Given the description of an element on the screen output the (x, y) to click on. 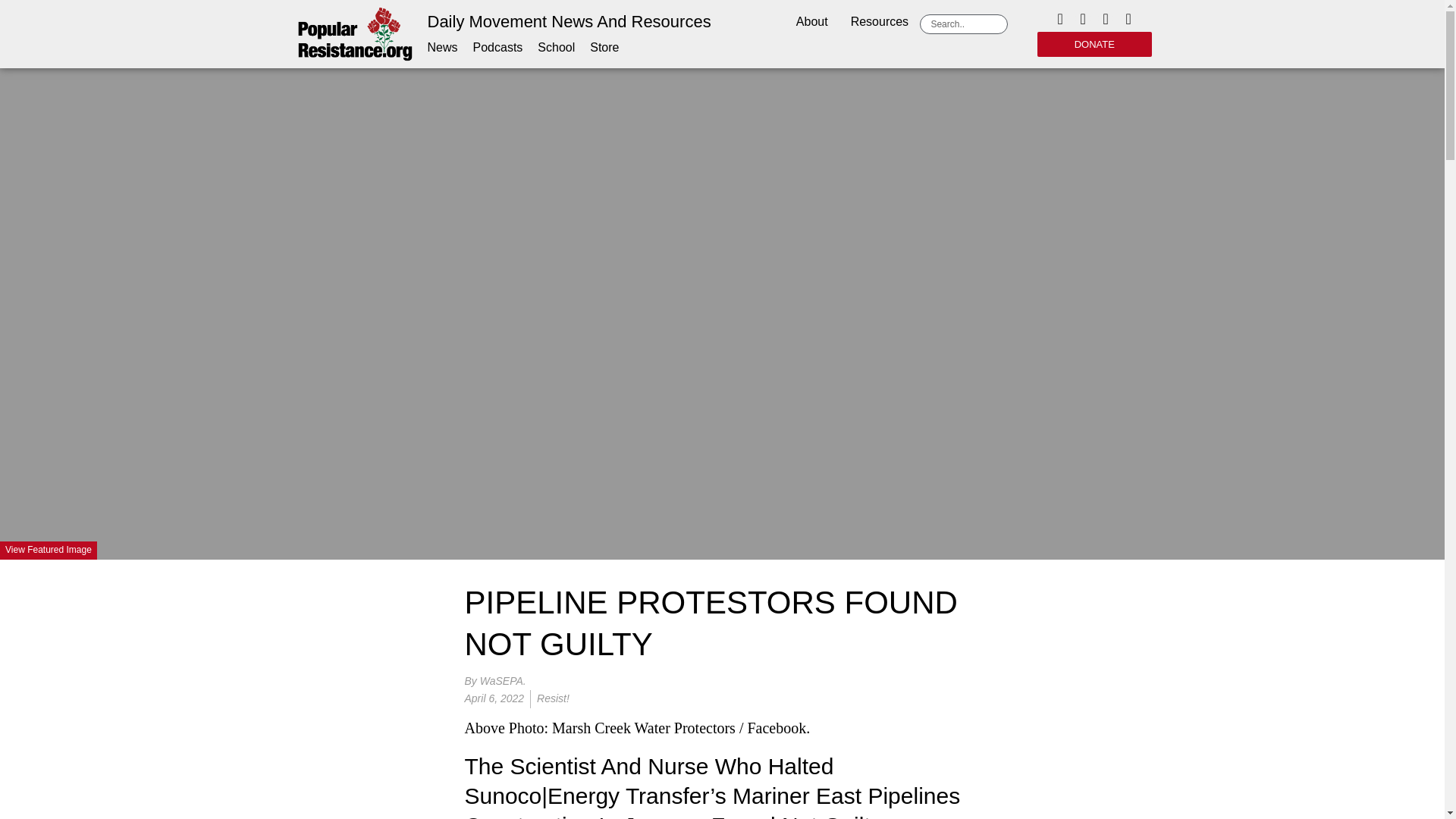
Podcasts (497, 47)
News (443, 47)
Resources (880, 22)
Store (603, 47)
About (812, 22)
School (556, 47)
Search (966, 24)
